Given the description of an element on the screen output the (x, y) to click on. 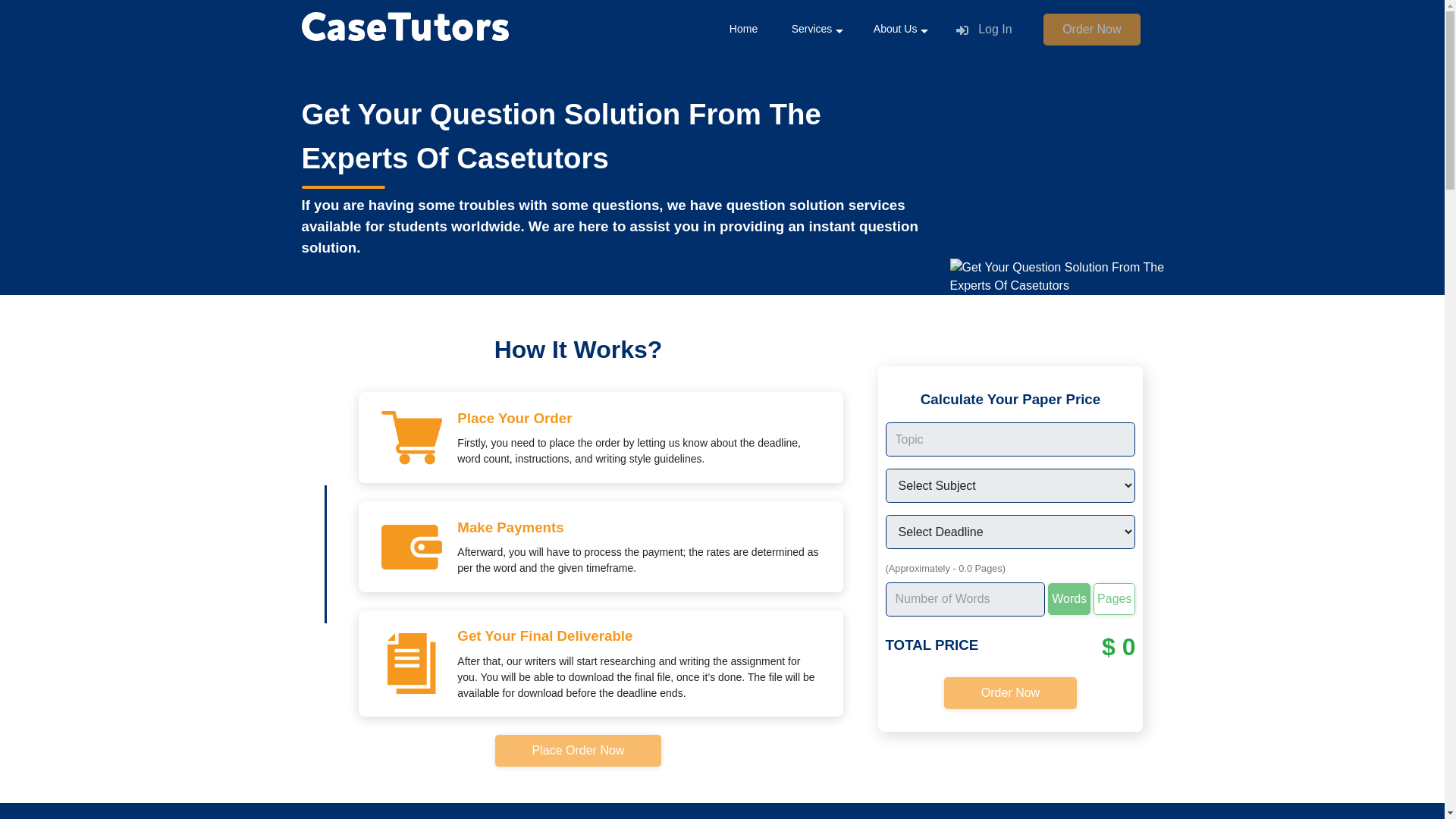
Order Now (1010, 693)
Words (1069, 599)
  Log In (984, 29)
Home (743, 28)
Pages (1114, 599)
Place Order Now (578, 750)
Place Order Now (578, 748)
  Log In (984, 29)
Order Now (1091, 29)
Order Now (1091, 29)
